Given the description of an element on the screen output the (x, y) to click on. 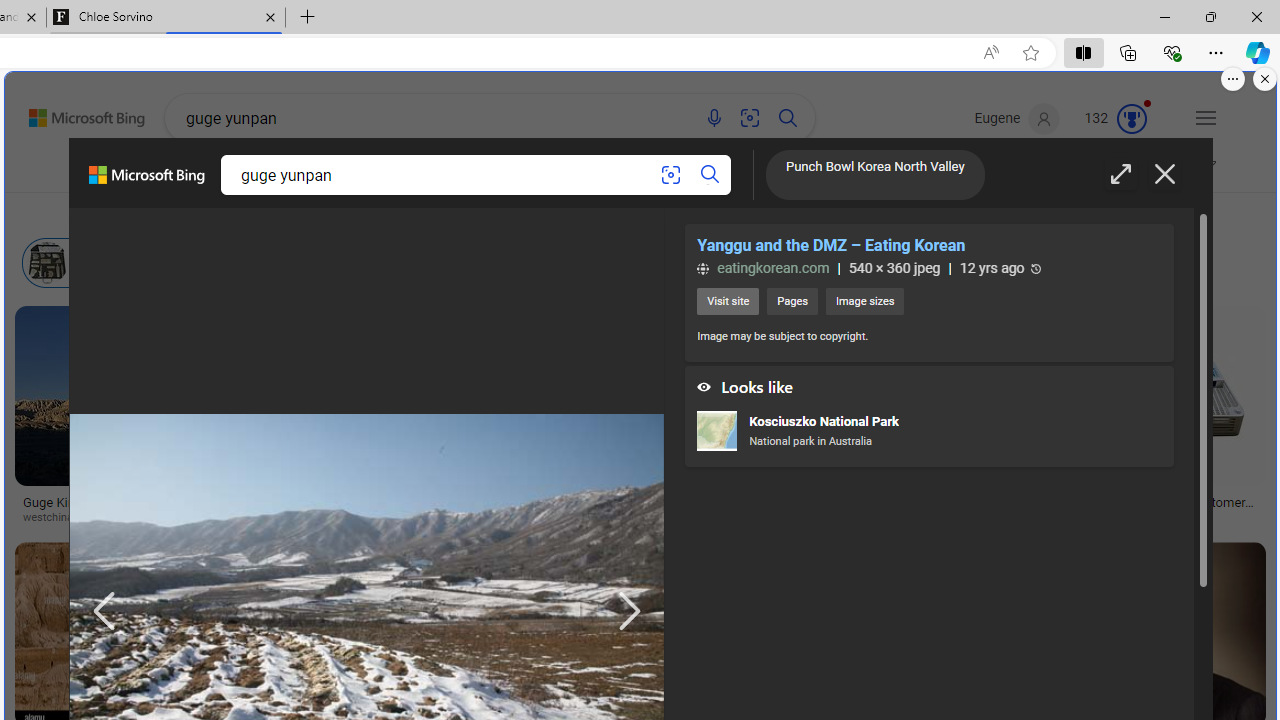
cartoondealer.com (672, 517)
Image sizes (864, 302)
Close image (1164, 173)
Related ProductsGauge Tool KitGuage SetDigital Caliper (1004, 420)
Gauge Tool Kit (1000, 375)
Microsoft Bing, Back to Bing search (146, 183)
SEARCH (219, 170)
Back to Bing search (74, 113)
Class: b_pri_nav_svg (553, 171)
Inspiration (475, 170)
Settings and quick links (1205, 117)
dreamstime.com (299, 517)
Image size (223, 213)
